Given the description of an element on the screen output the (x, y) to click on. 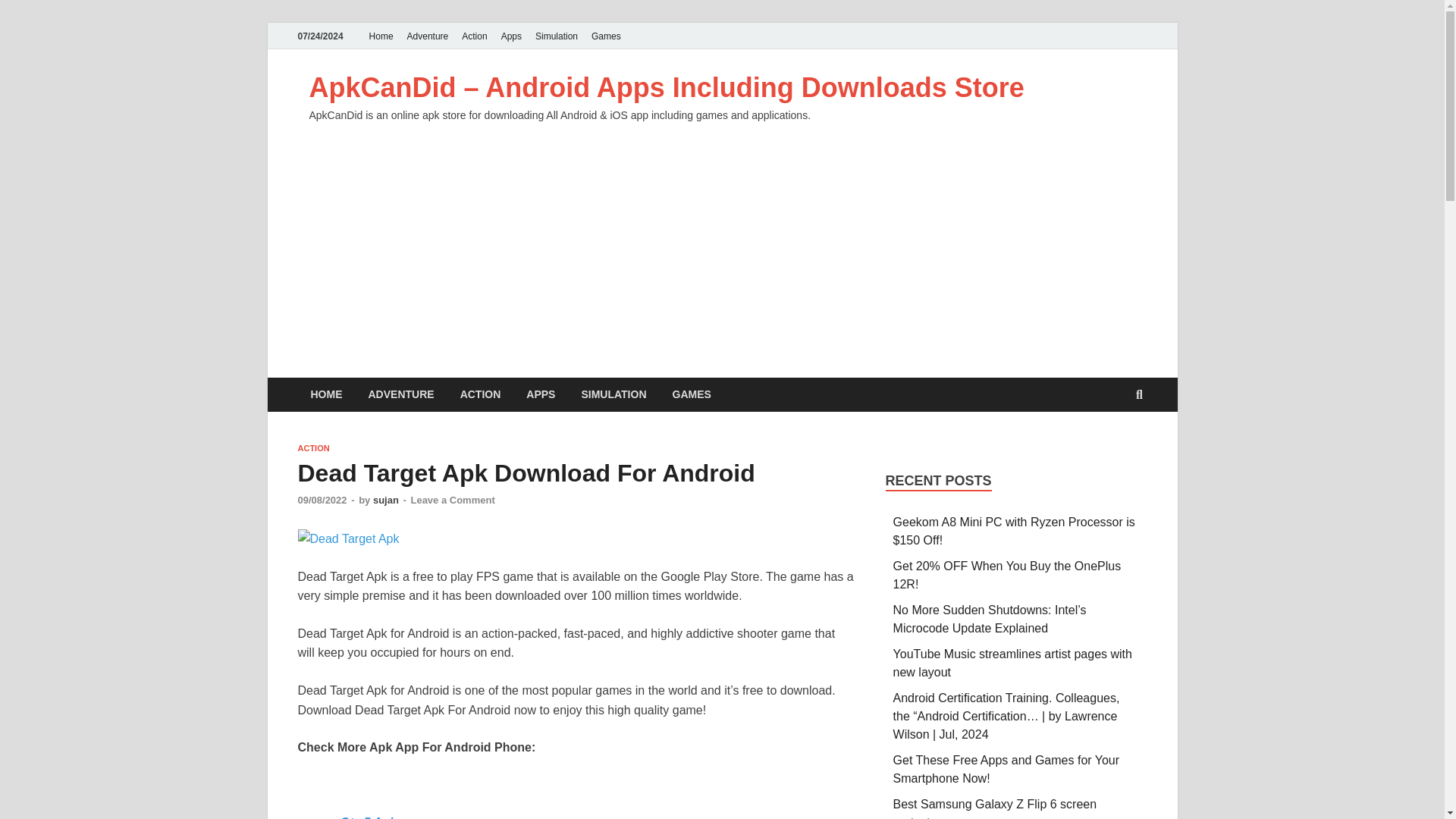
ACTION (479, 394)
sujan (385, 500)
SIMULATION (613, 394)
Action (473, 35)
HOME (326, 394)
Apps (511, 35)
Home (381, 35)
Games (606, 35)
ACTION (313, 447)
ADVENTURE (400, 394)
Leave a Comment (452, 500)
GAMES (691, 394)
Simulation (556, 35)
Gta 5 Apk (367, 817)
